Given the description of an element on the screen output the (x, y) to click on. 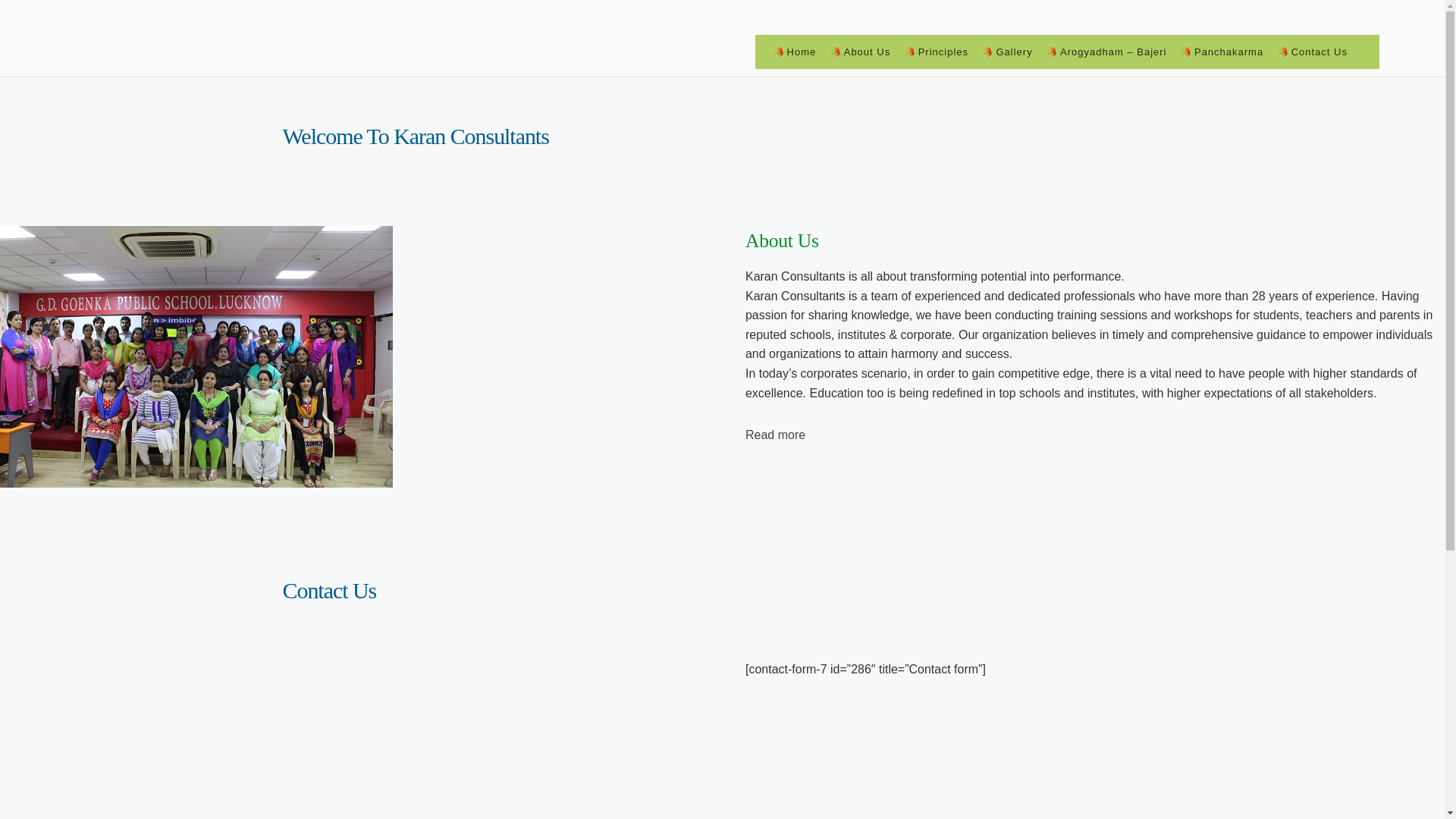
Contact Us (1319, 51)
Panchakarma (1228, 51)
Home (801, 51)
Gallery (1013, 51)
About Us (866, 51)
Principles (942, 51)
Read more (775, 434)
